Given the description of an element on the screen output the (x, y) to click on. 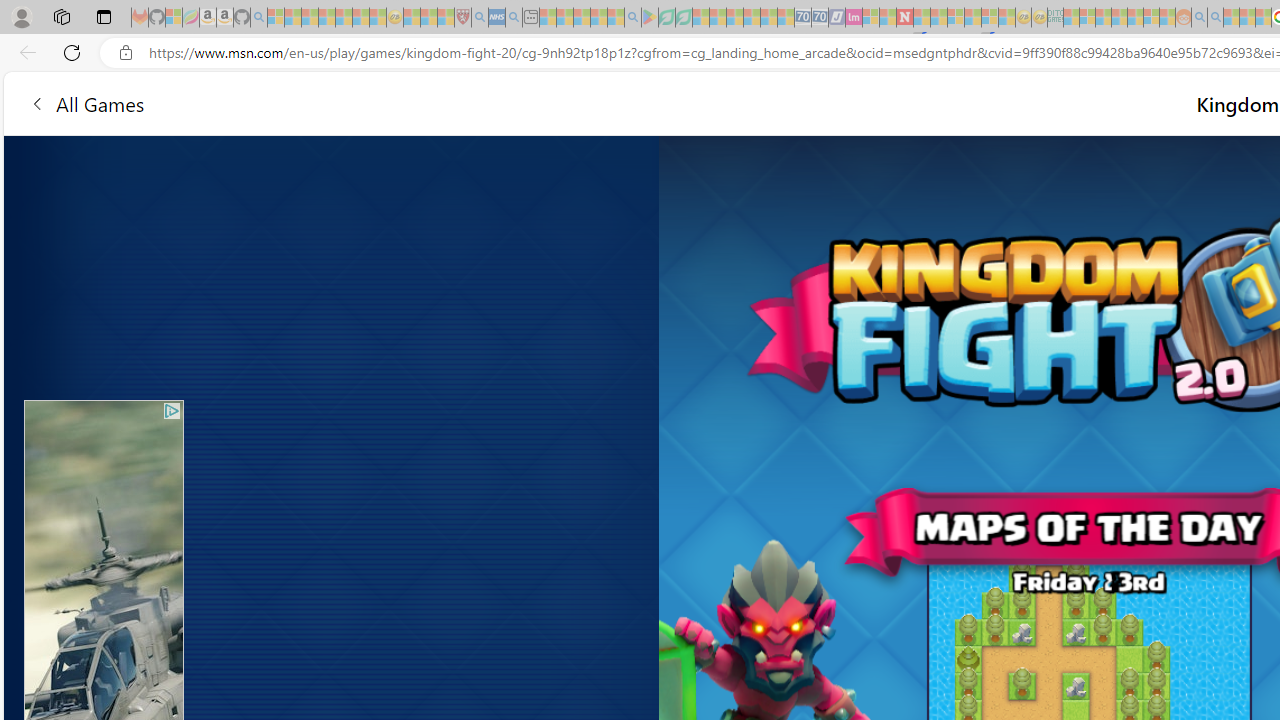
Utah sues federal government - Search - Sleeping (1215, 17)
NCL Adult Asthma Inhaler Choice Guideline - Sleeping (497, 17)
Trusted Community Engagement and Contributions | Guidelines (921, 17)
New Report Confirms 2023 Was Record Hot | Watch - Sleeping (343, 17)
google - Search - Sleeping (632, 17)
